Given the description of an element on the screen output the (x, y) to click on. 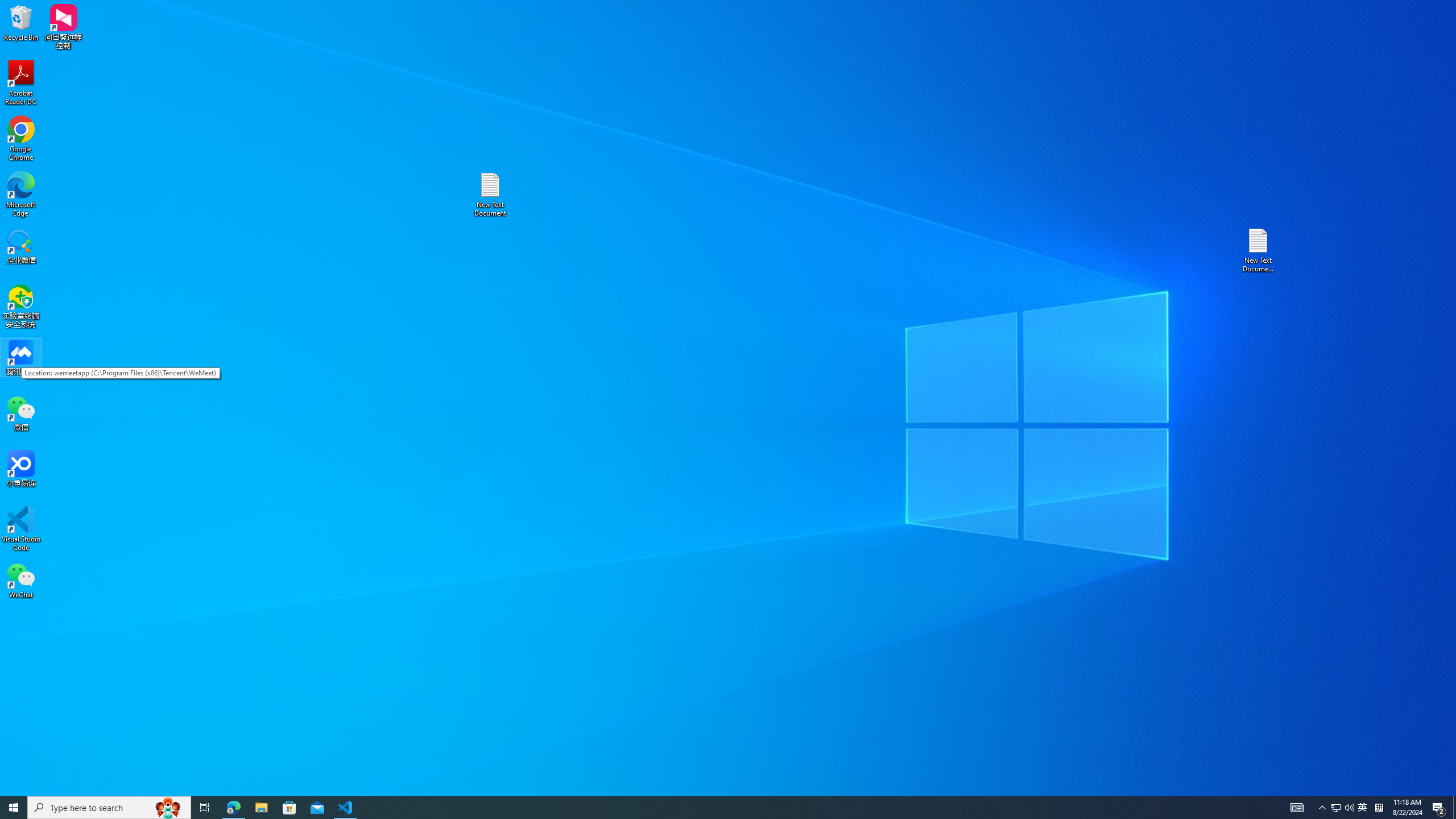
Action Center, 2 new notifications (1439, 807)
Notification Chevron (1322, 807)
WeChat (21, 580)
